Given the description of an element on the screen output the (x, y) to click on. 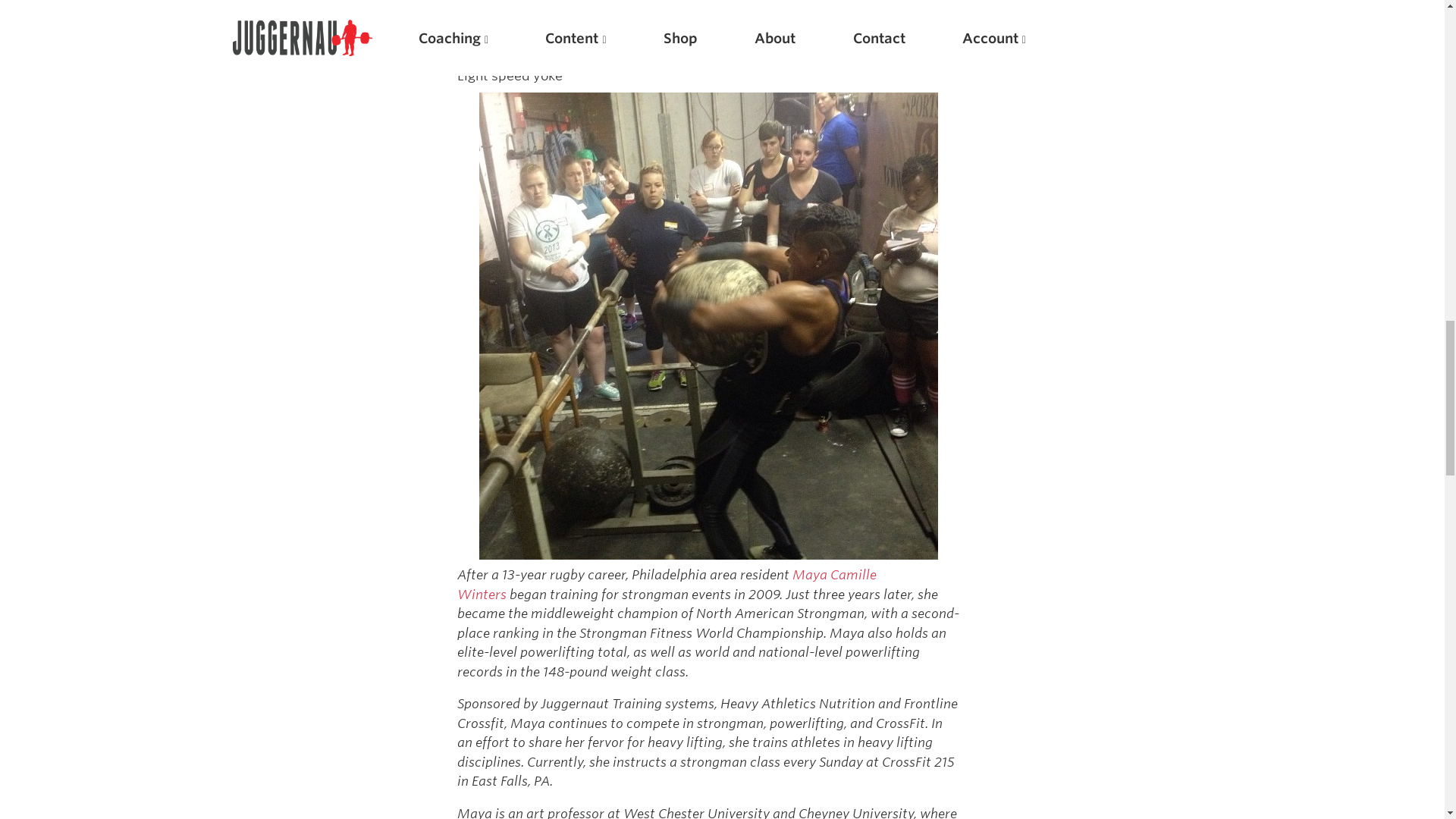
Maya Camille Winters (666, 584)
